Given the description of an element on the screen output the (x, y) to click on. 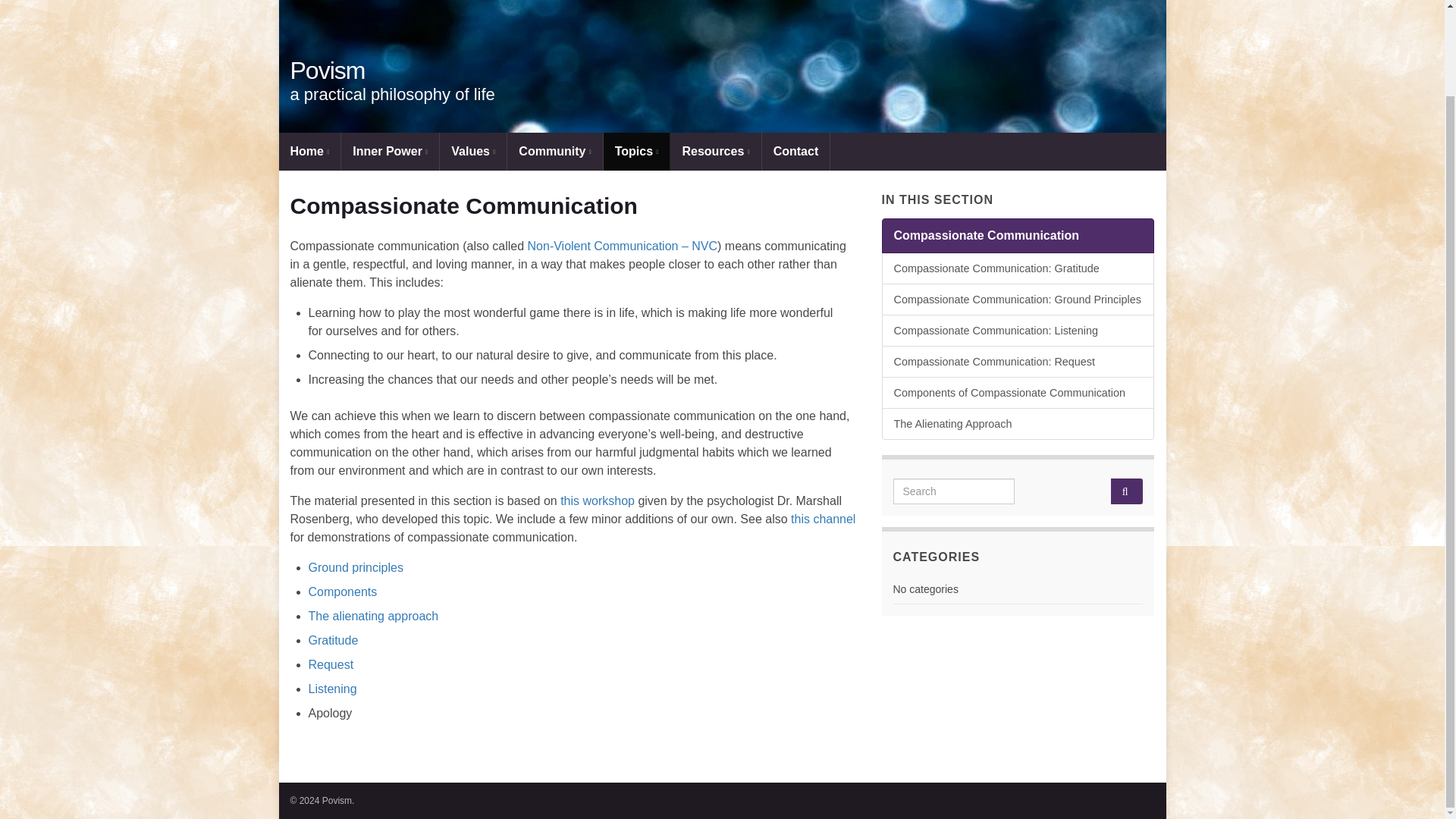
Povism (327, 70)
Home (309, 151)
Topics (636, 151)
Go back to the front page (327, 70)
Community (554, 151)
Inner Power (389, 151)
Resources (714, 151)
Values (472, 151)
Povism (722, 66)
